Given the description of an element on the screen output the (x, y) to click on. 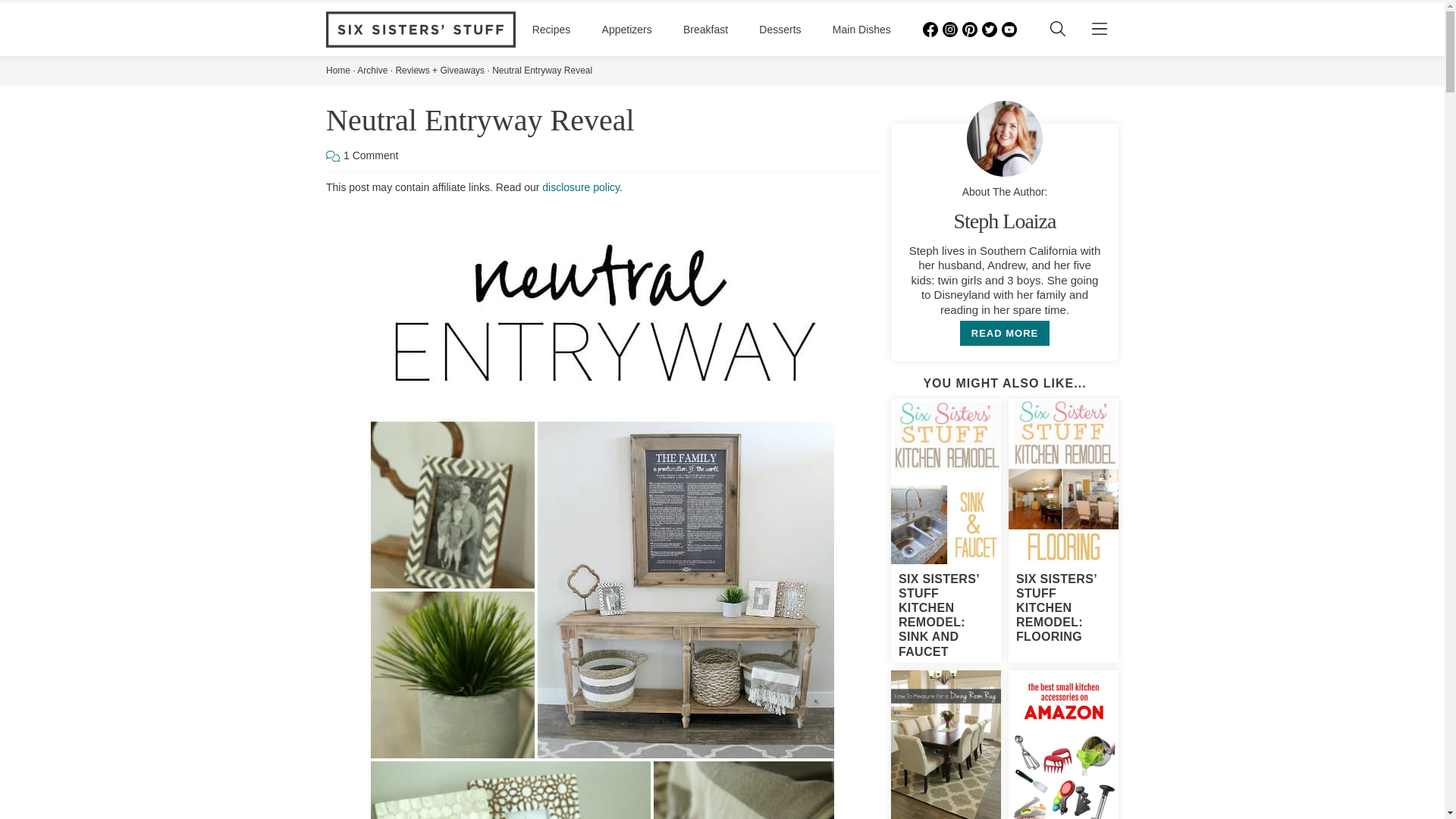
Recipes (551, 29)
Desserts (779, 29)
Appetizers (627, 29)
Breakfast (705, 29)
Main Dishes (861, 29)
